Given the description of an element on the screen output the (x, y) to click on. 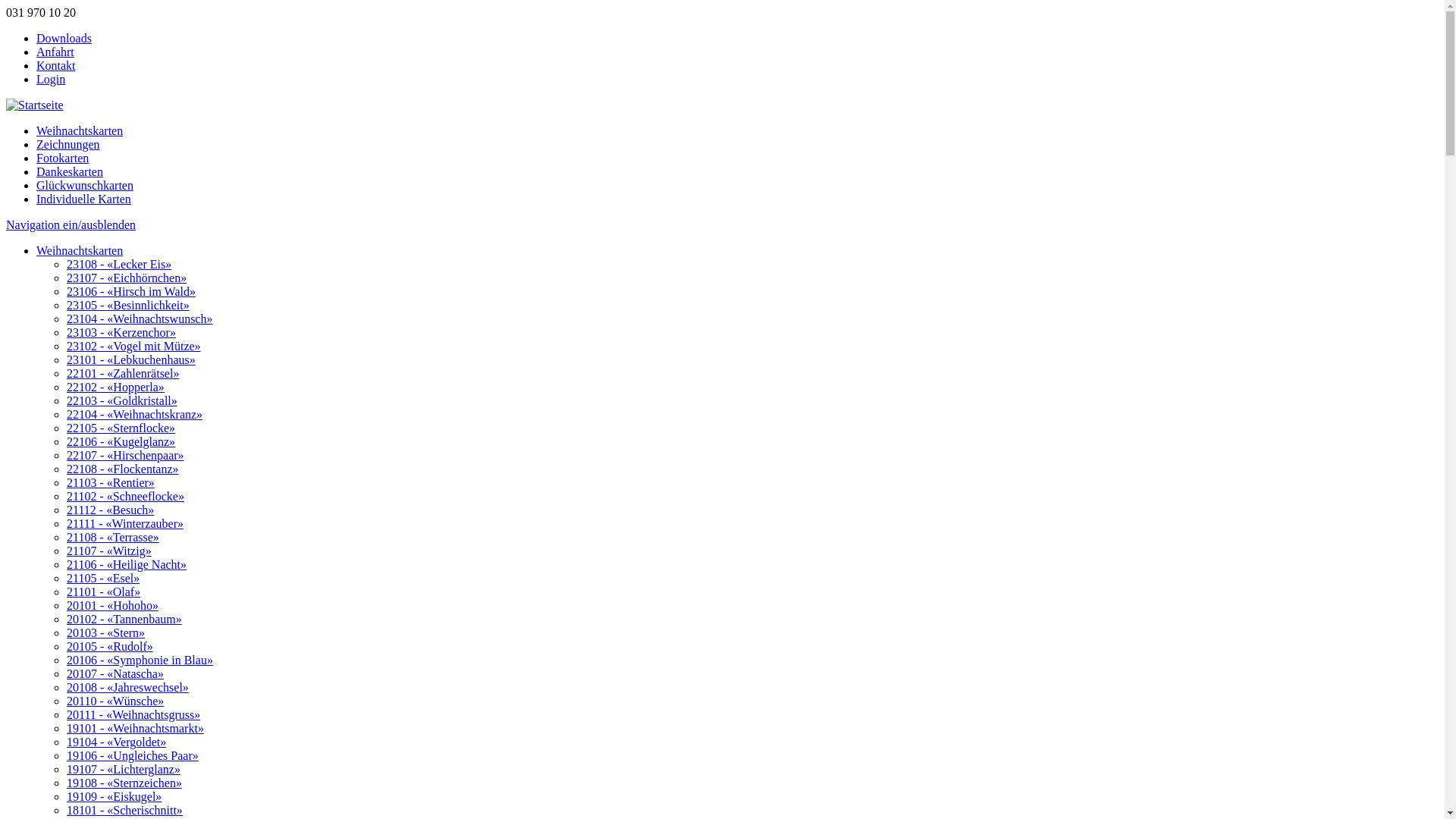
Kontakt Element type: text (55, 65)
Login Element type: text (50, 78)
Downloads Element type: text (63, 37)
Anfahrt Element type: text (55, 51)
Fotokarten Element type: text (62, 157)
Navigation ein/ausblenden Element type: text (70, 224)
Zeichnungen Element type: text (68, 144)
Dankeskarten Element type: text (69, 171)
Individuelle Karten Element type: text (83, 198)
Weihnachtskarten Element type: text (79, 250)
Weihnachtskarten Element type: text (79, 130)
